Given the description of an element on the screen output the (x, y) to click on. 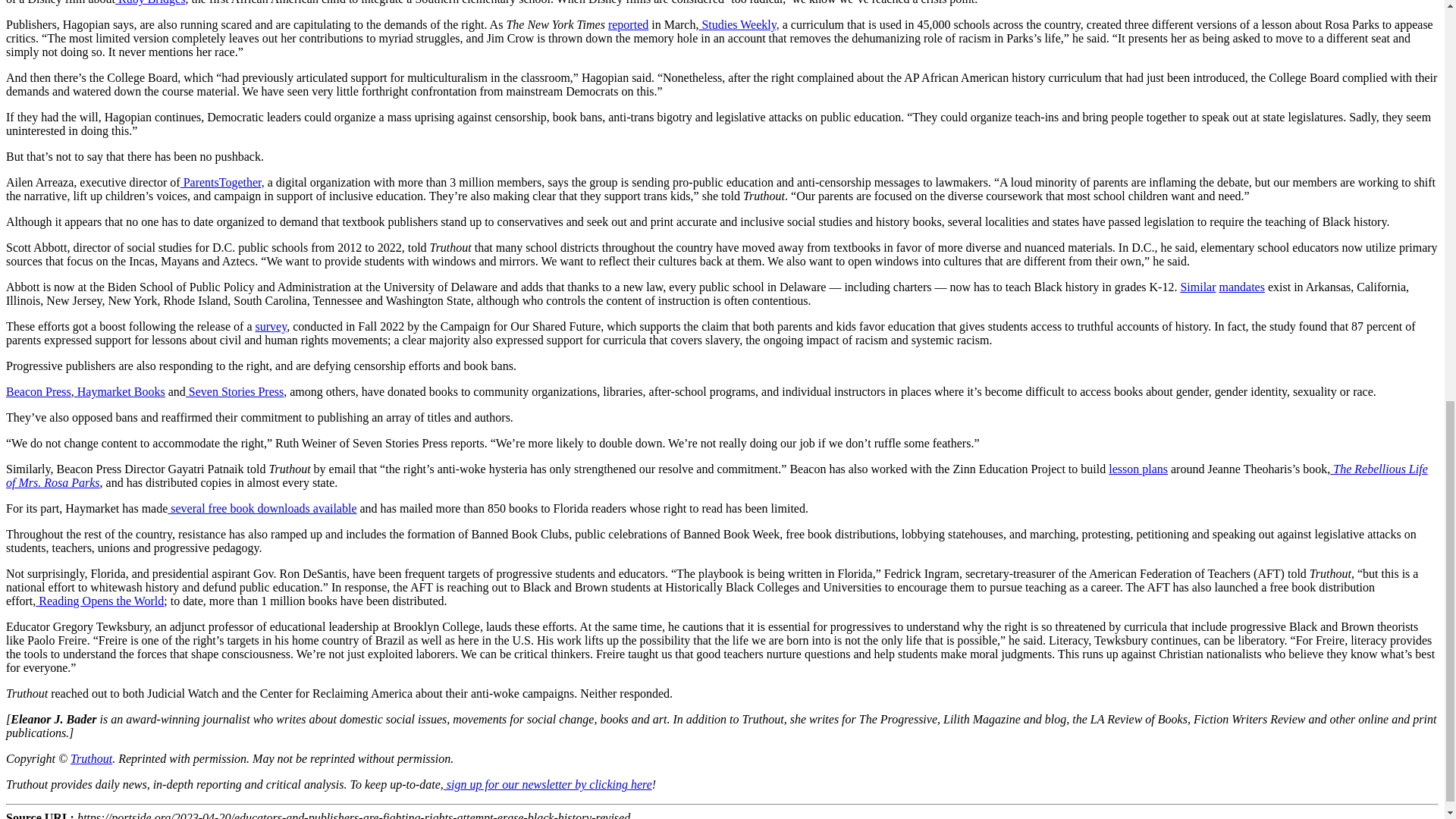
sign up for our newsletter by clicking here (549, 784)
Beacon Press (38, 391)
 ParentsTogether, (222, 182)
 Ruby Bridges (149, 2)
 Studies Weekly, (738, 24)
Similar (1197, 286)
 The Rebellious Life of Mrs. Rosa Parks (716, 475)
 Haymarket Books (119, 391)
reported (627, 24)
 Reading Opens the World (98, 600)
lesson plans (1137, 468)
mandates (1242, 286)
 several free book downloads available (261, 508)
 Seven Stories Press (234, 391)
survey (270, 326)
